Given the description of an element on the screen output the (x, y) to click on. 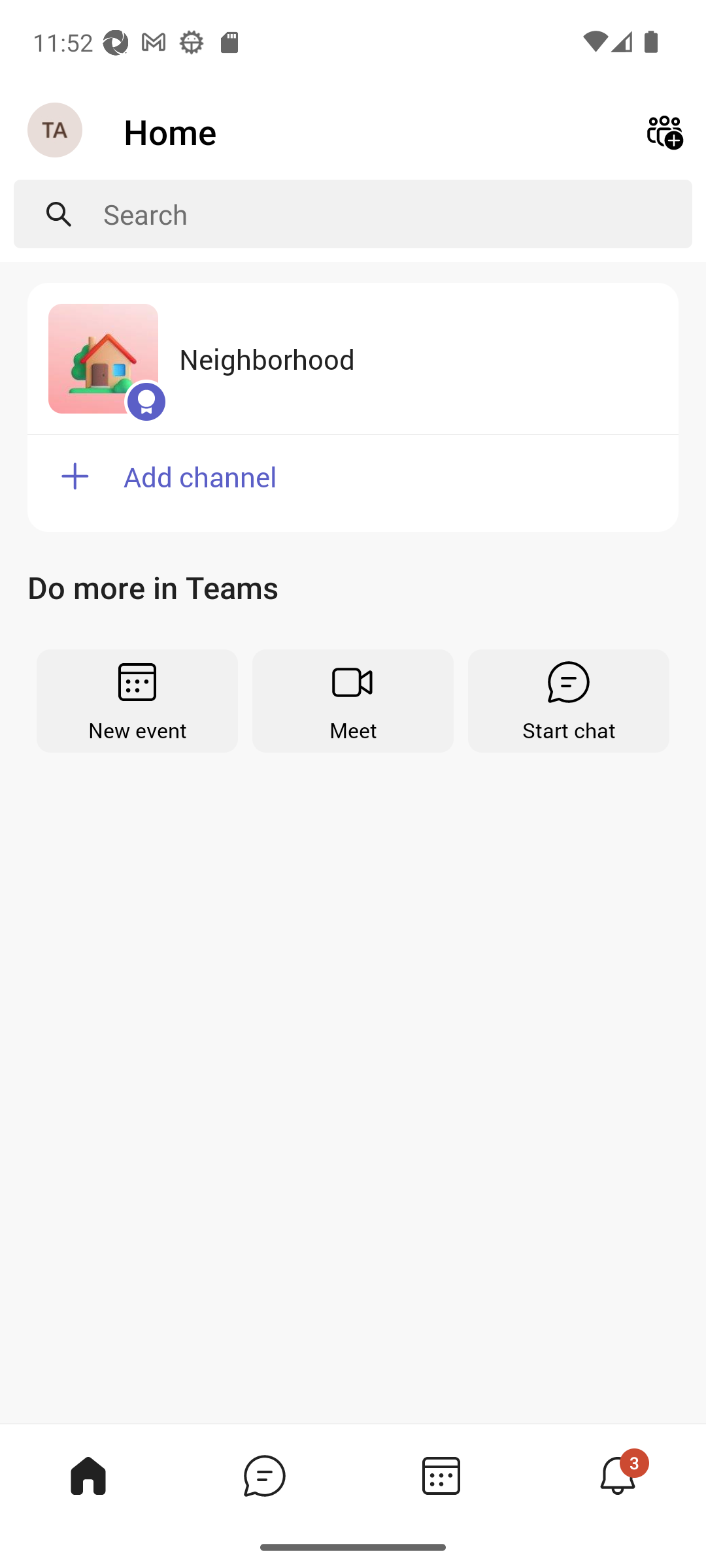
Create new community (664, 131)
Navigation (56, 130)
Search (397, 213)
Neighborhood Community. Neighborhood (352, 358)
New event (136, 700)
Meet (352, 700)
Start chat (568, 700)
Home tab, 1 of 4 (88, 1475)
Chat tab,2 of 4, not selected (264, 1475)
Calendar tab,3 of 4, not selected (441, 1475)
Activity tab,4 of 4, not selected, 3 new 3 (617, 1475)
